Given the description of an element on the screen output the (x, y) to click on. 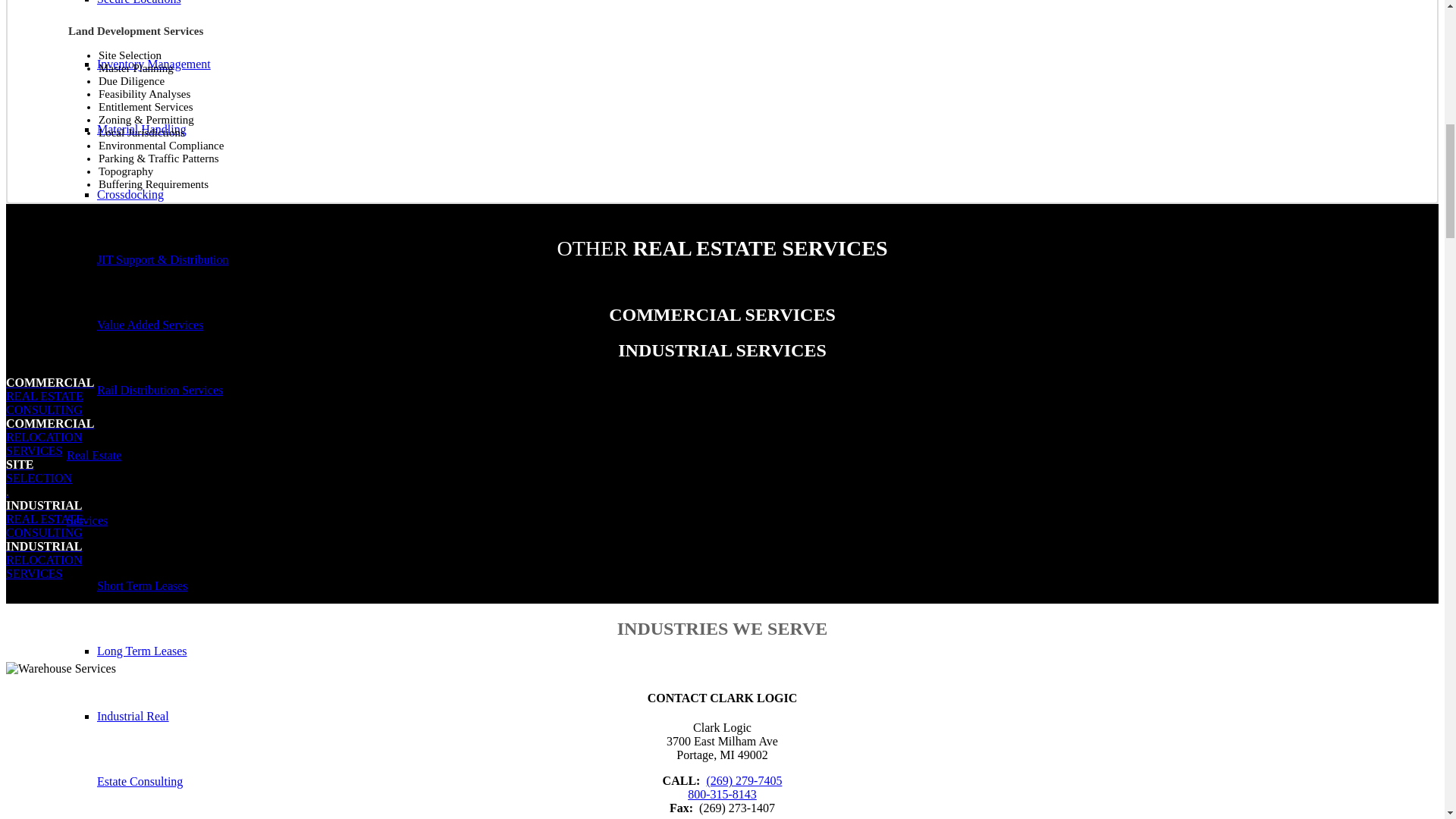
Long Term Leases (142, 650)
Inventory Management (93, 487)
Rail Distribution Services (154, 63)
Value Added Services (159, 390)
Crossdocking (150, 324)
industries-graphic (130, 194)
Material Handling (60, 667)
Short Term Leases (141, 128)
Secure Locations (140, 748)
